Given the description of an element on the screen output the (x, y) to click on. 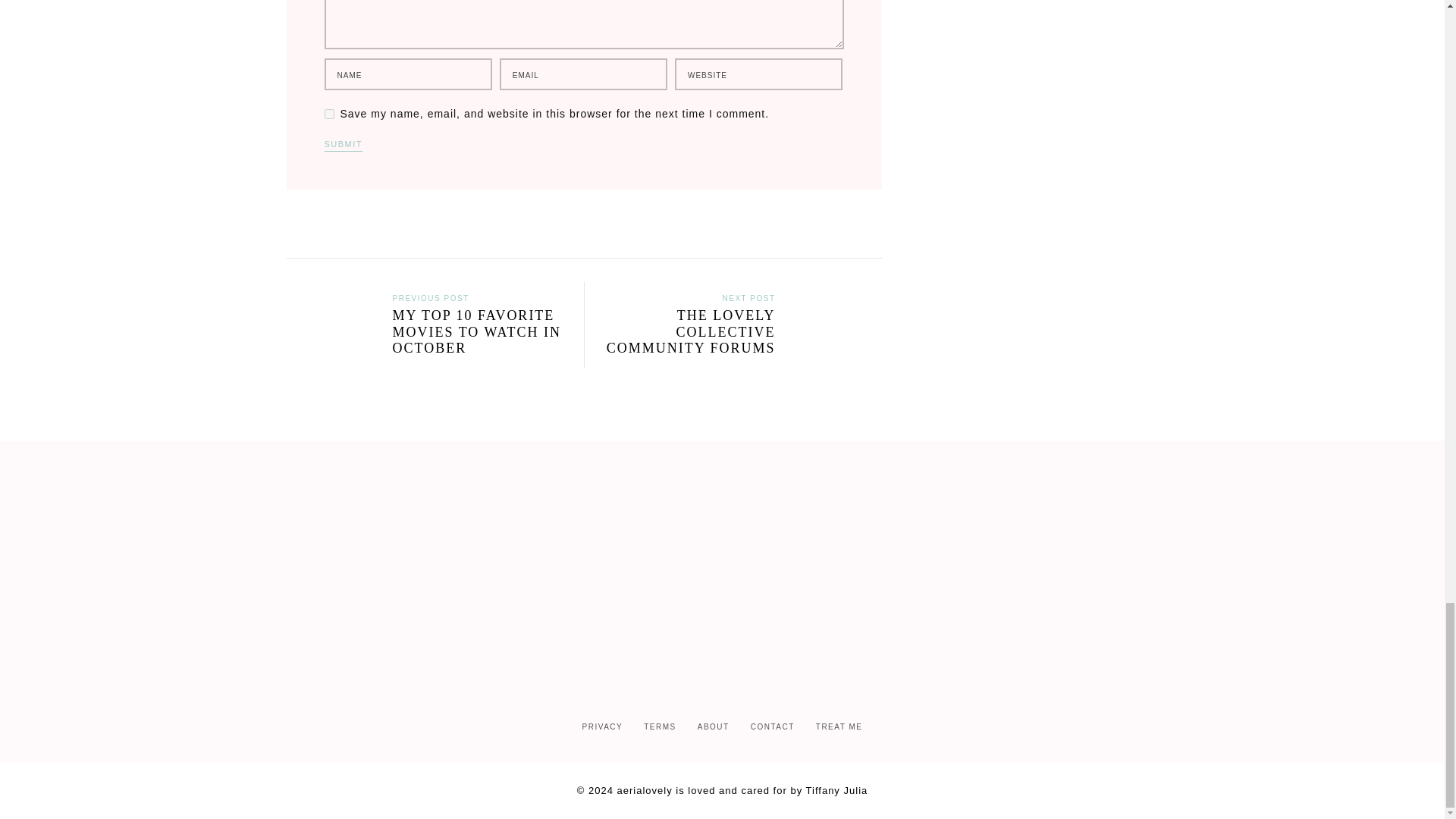
NEXT POST (748, 297)
PREVIOUS POST (430, 297)
yes (329, 113)
Submit (343, 145)
THE LOVELY COLLECTIVE COMMUNITY FORUMS (739, 340)
MY TOP 10 FAVORITE MOVIES TO WATCH IN OCTOBER (427, 340)
Submit (343, 145)
